Given the description of an element on the screen output the (x, y) to click on. 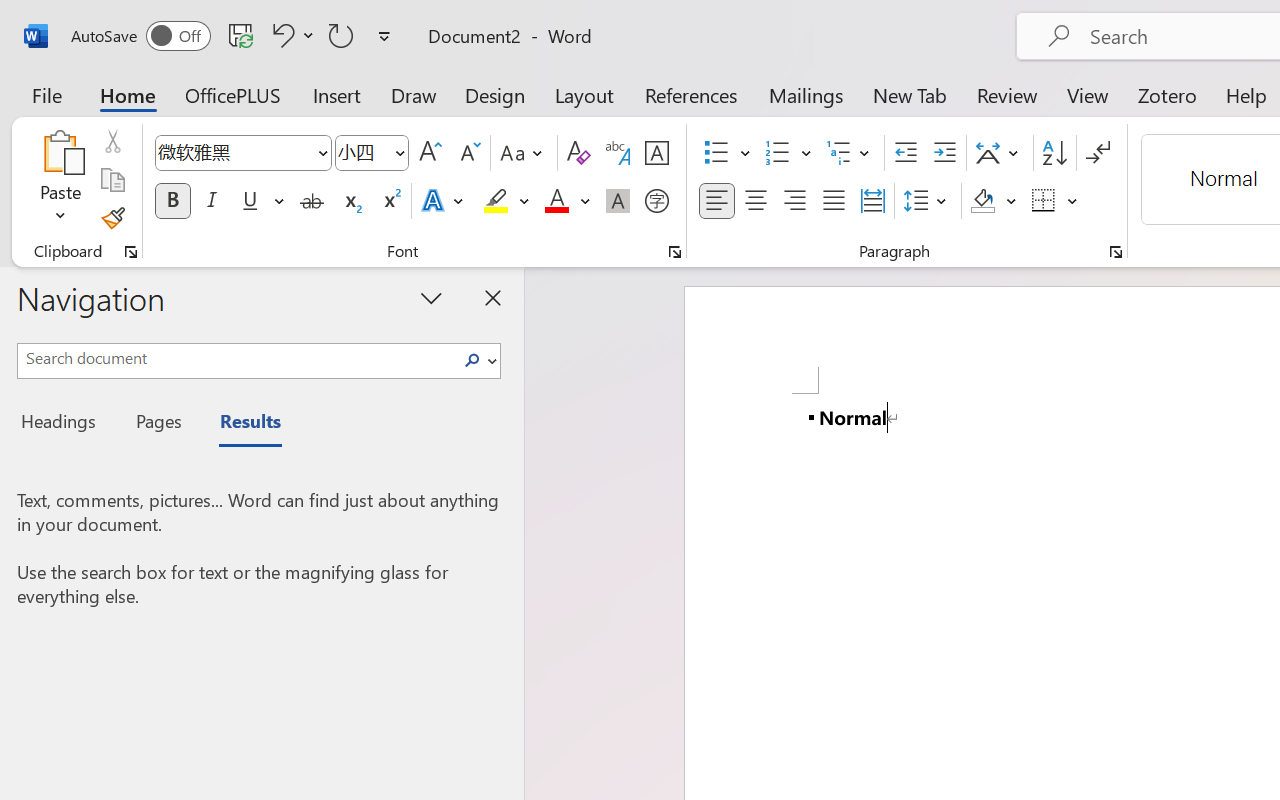
More Options (1073, 201)
Office Clipboard... (131, 252)
Text Highlight Color Yellow (495, 201)
Numbering (778, 153)
Bullets (727, 153)
Font (234, 152)
Search (478, 360)
Subscript (350, 201)
Multilevel List (850, 153)
